Given the description of an element on the screen output the (x, y) to click on. 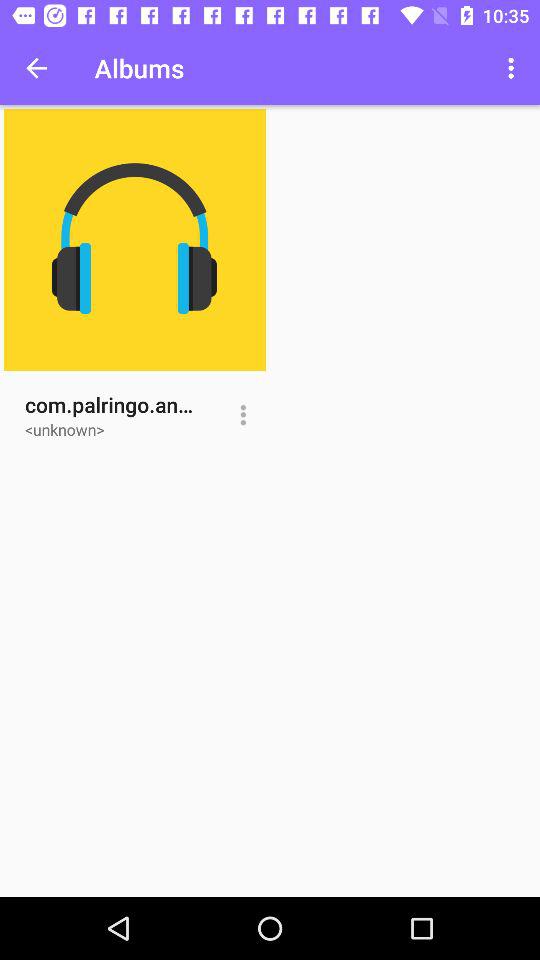
open the item at the center (242, 415)
